Given the description of an element on the screen output the (x, y) to click on. 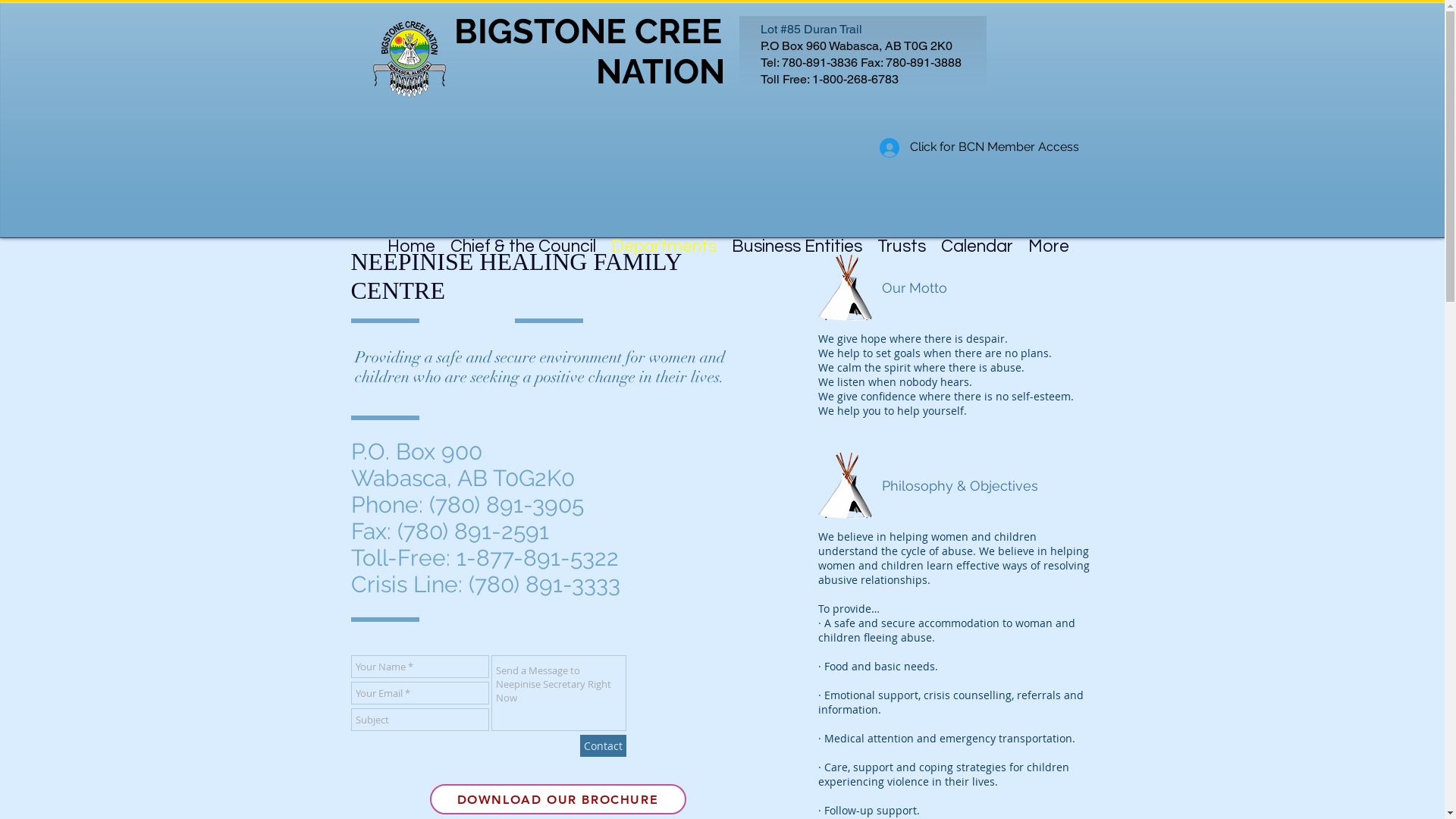
BCN - TeePee.png Element type: hover (844, 287)
Trusts Element type: text (901, 236)
Contact Element type: text (602, 745)
Calendar Element type: text (976, 236)
BCN - TeePee.png Element type: hover (844, 484)
Chief & the Council Element type: text (522, 236)
DOWNLOAD OUR BROCHURE Element type: text (557, 799)
Business Entities Element type: text (796, 236)
                 NATION Element type: text (588, 71)
Click for BCN Member Access Element type: text (979, 147)
Wix Hit Counter Element type: hover (398, 147)
BIGSTONE CREE Element type: text (587, 31)
Home Element type: text (410, 236)
Departments Element type: text (663, 236)
